Given the description of an element on the screen output the (x, y) to click on. 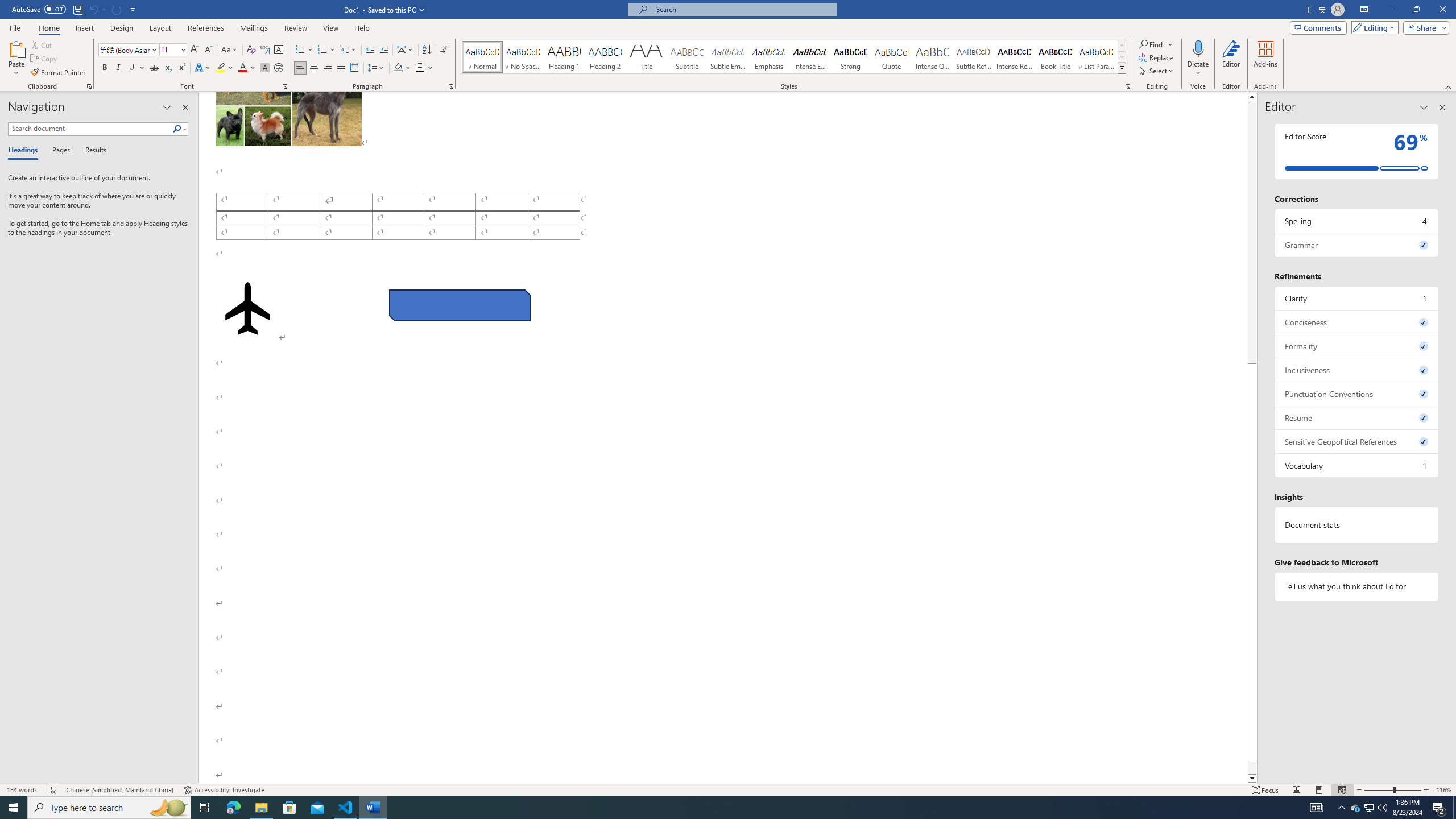
Zoom 116% (1443, 790)
Resume, 0 issues. Press space or enter to review items. (1356, 417)
